Given the description of an element on the screen output the (x, y) to click on. 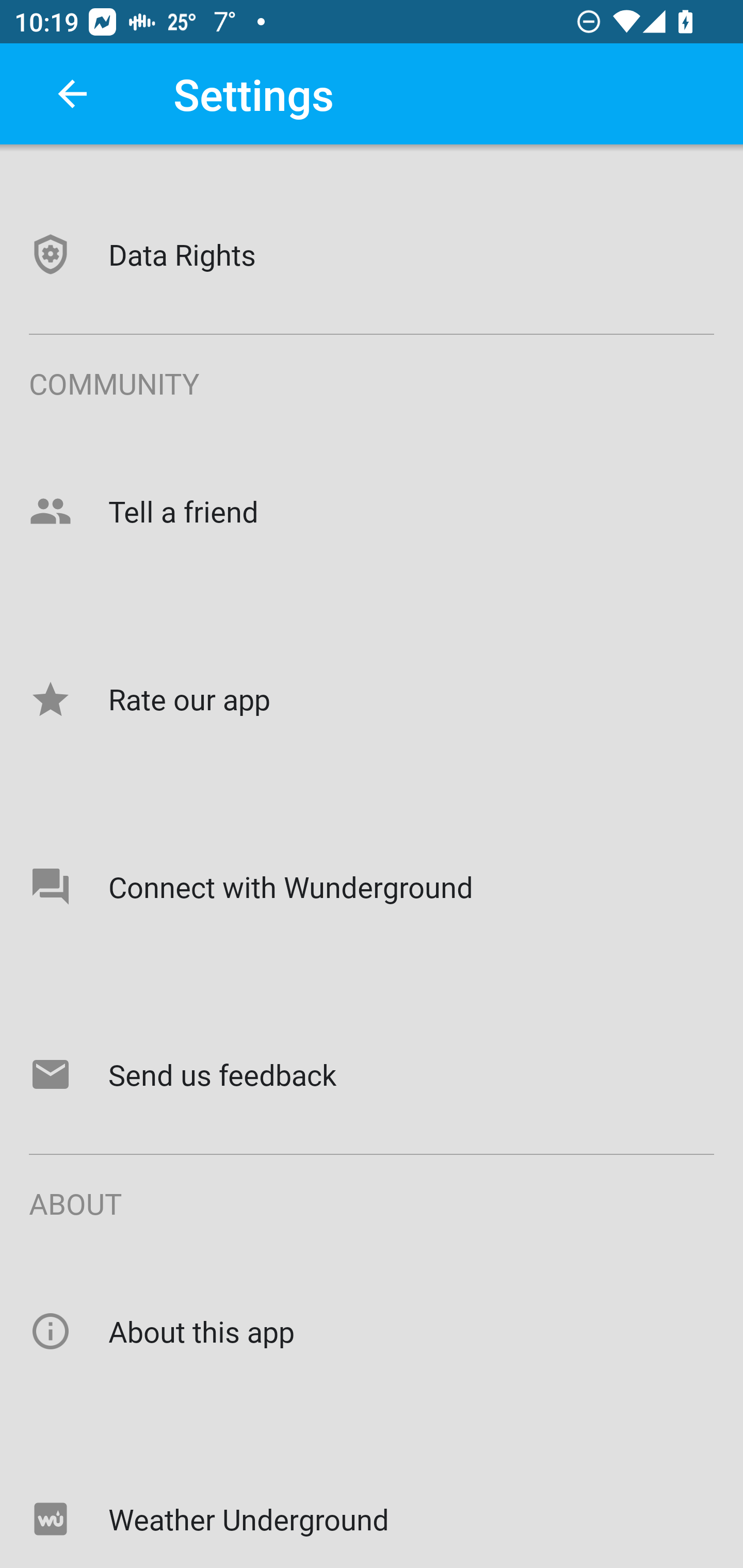
back (71, 93)
Data Rights (371, 254)
Tell a friend Tell a friend. Open in browser (371, 511)
Rate our app (371, 698)
Connect with Wunderground (371, 886)
Send us feedback Send us feedback. Open in browser (371, 1074)
About this app (371, 1331)
Weather Underground (371, 1503)
